Given the description of an element on the screen output the (x, y) to click on. 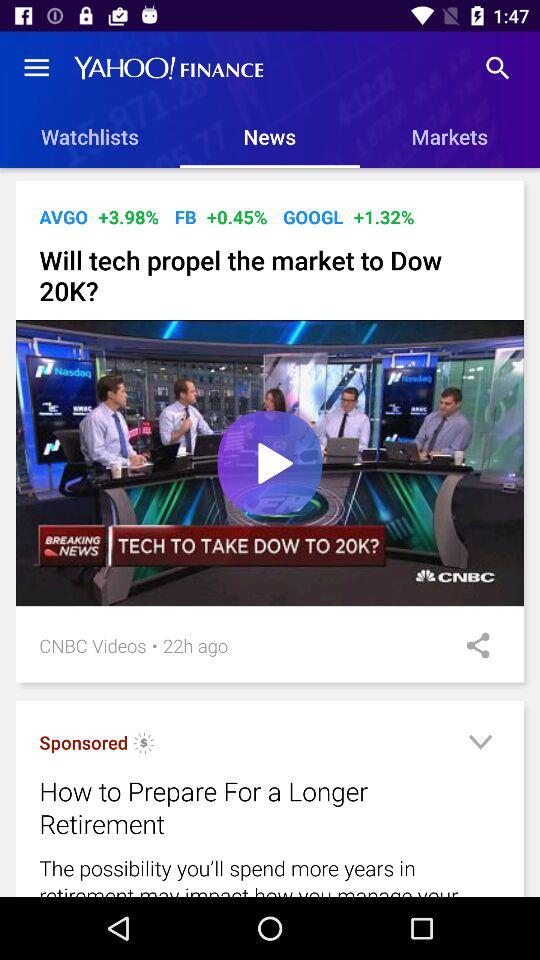
launch icon below how to prepare (269, 874)
